Given the description of an element on the screen output the (x, y) to click on. 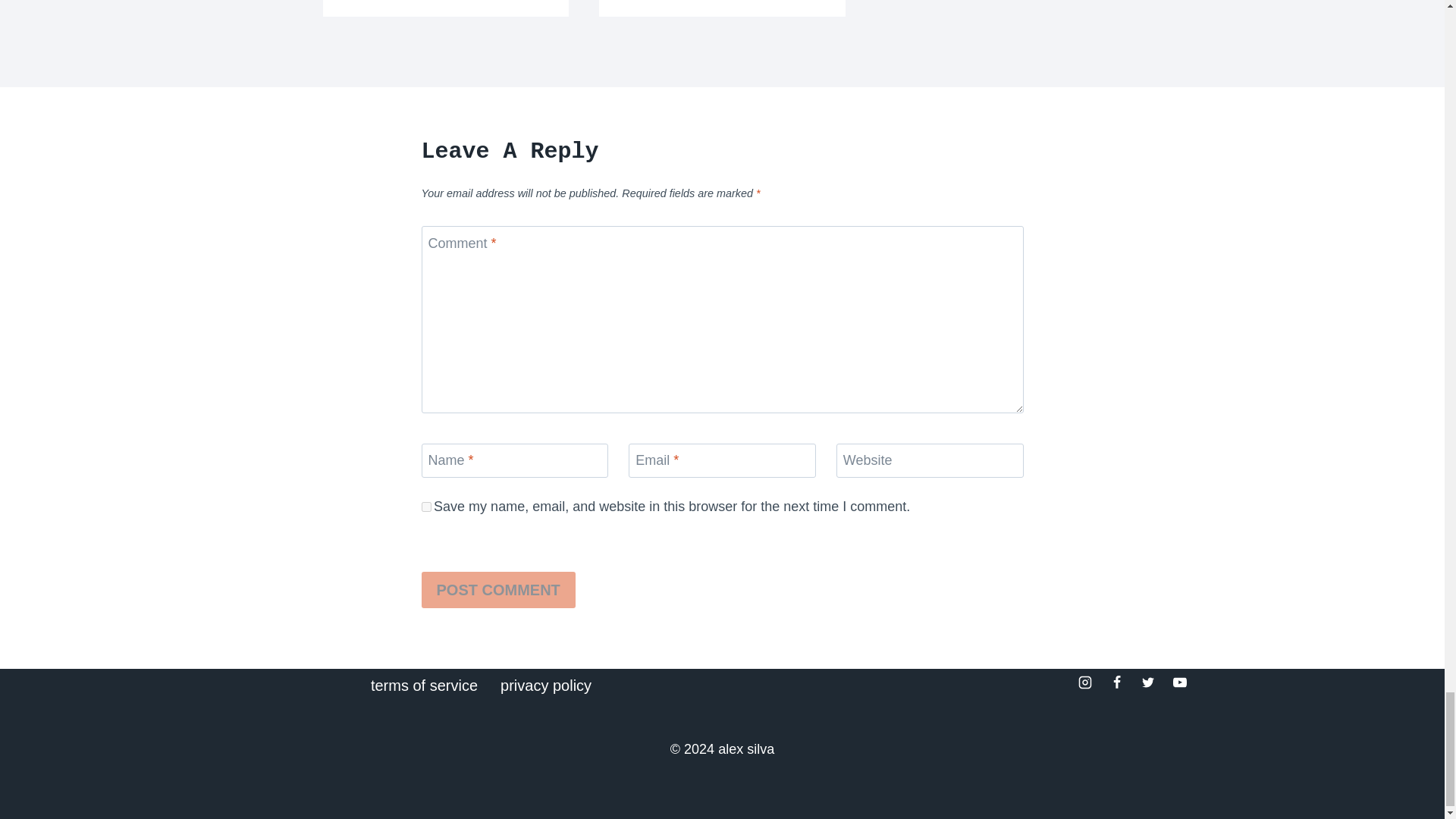
yes (426, 506)
Post Comment (498, 589)
